Given the description of an element on the screen output the (x, y) to click on. 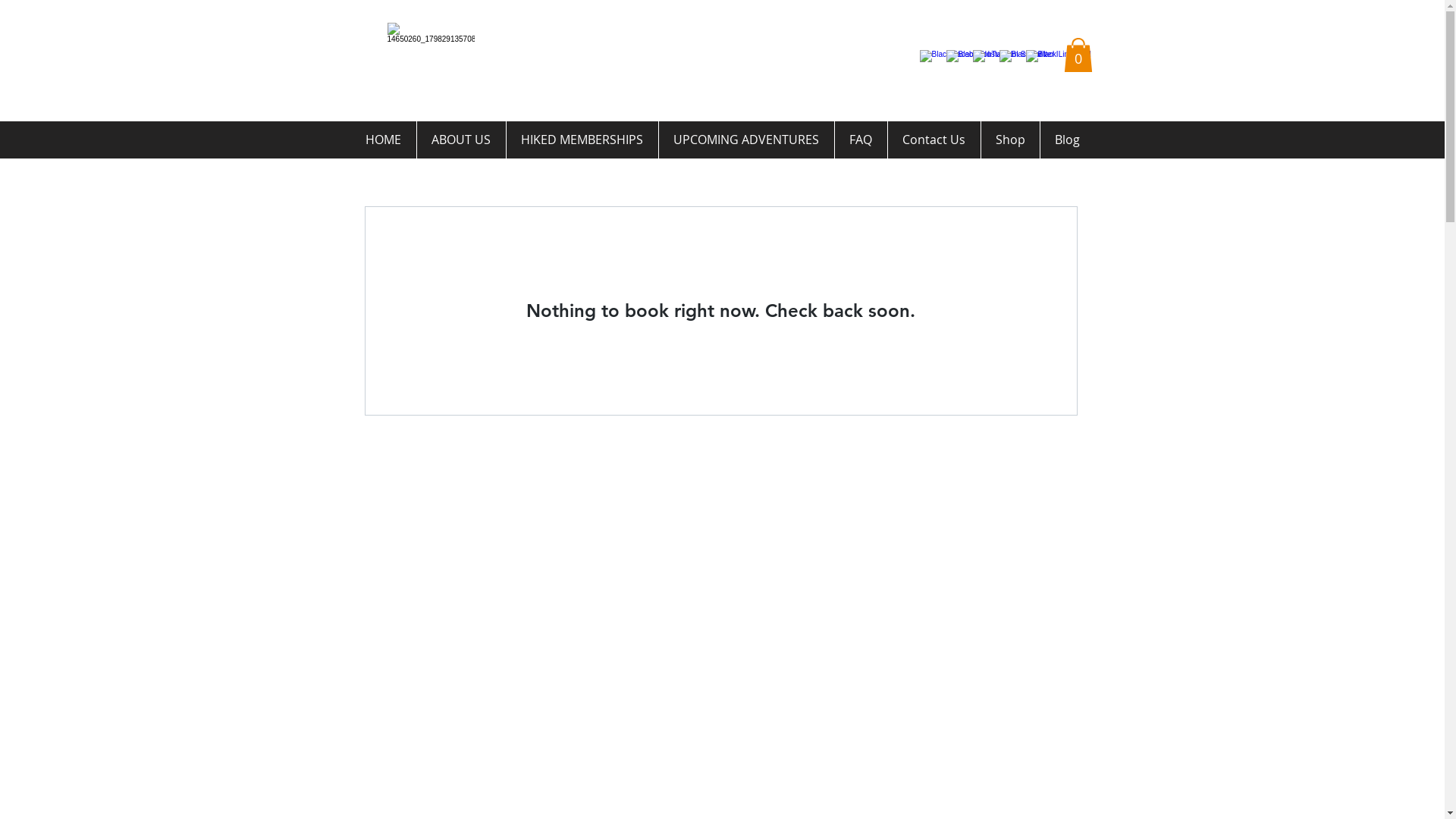
UPCOMING ADVENTURES Element type: text (745, 139)
HOME Element type: text (382, 139)
Shop Element type: text (1010, 139)
0 Element type: text (1077, 54)
HIKED MEMBERSHIPS Element type: text (582, 139)
Contact Us Element type: text (933, 139)
ABOUT US Element type: text (461, 139)
Blog Element type: text (1067, 139)
